Given the description of an element on the screen output the (x, y) to click on. 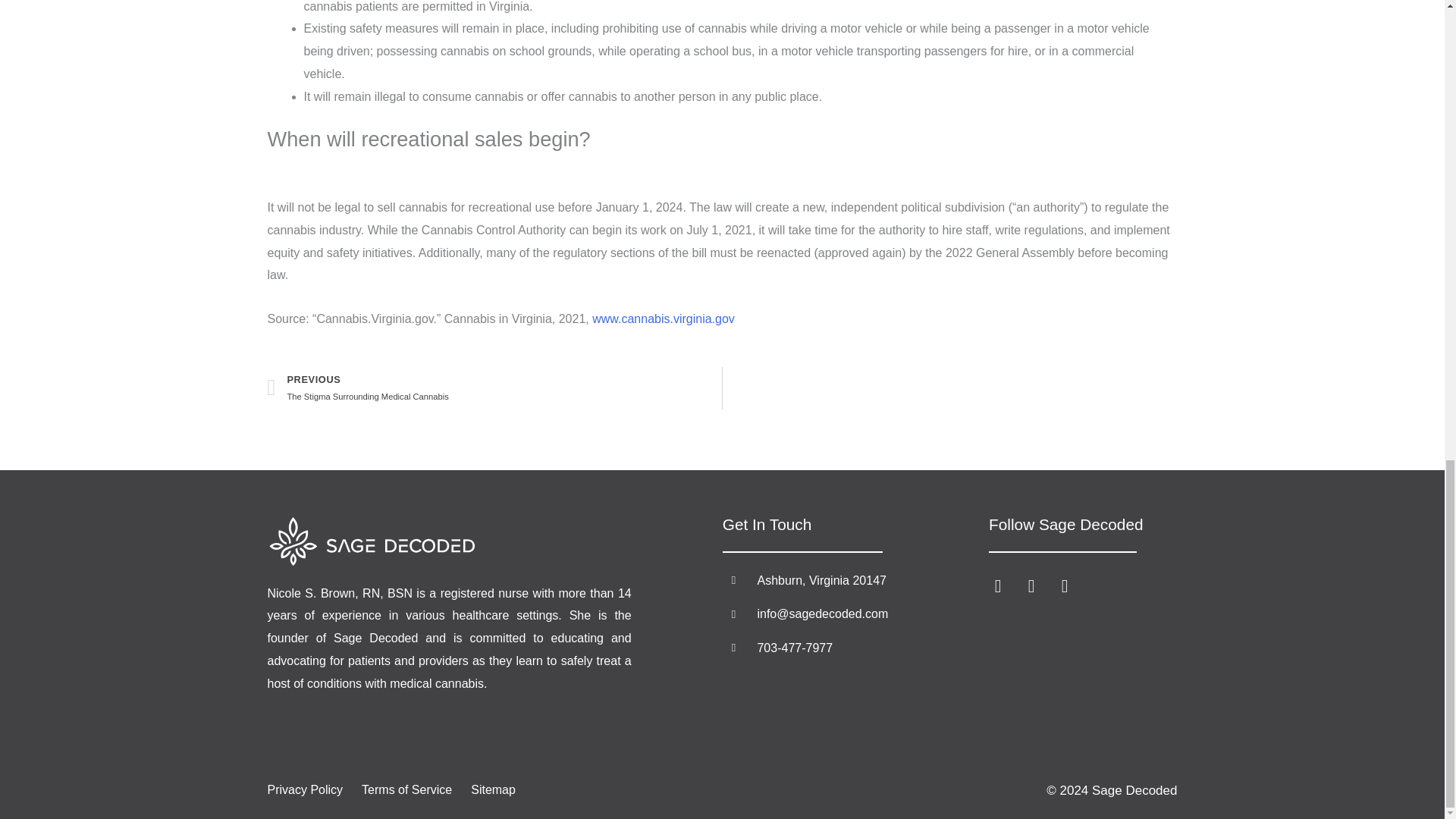
Facebook-f (997, 586)
Twitter (1031, 586)
Terms of Service (406, 789)
www.cannabis.virginia.gov (663, 318)
Privacy Policy (304, 789)
Sitemap (492, 789)
703-477-7977 (494, 387)
Instagram (860, 648)
